Given the description of an element on the screen output the (x, y) to click on. 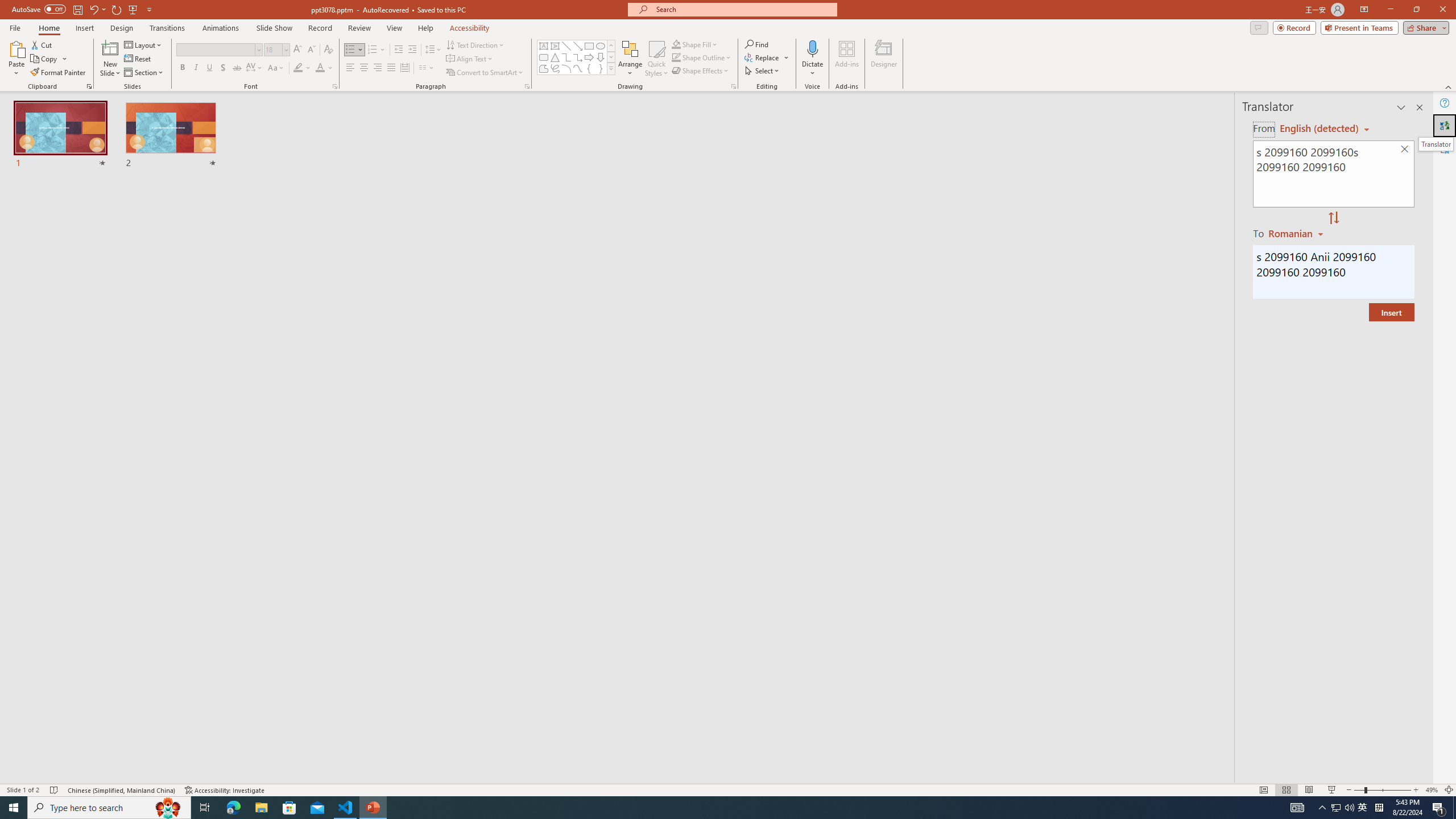
Czech (detected) (1319, 128)
